Given the description of an element on the screen output the (x, y) to click on. 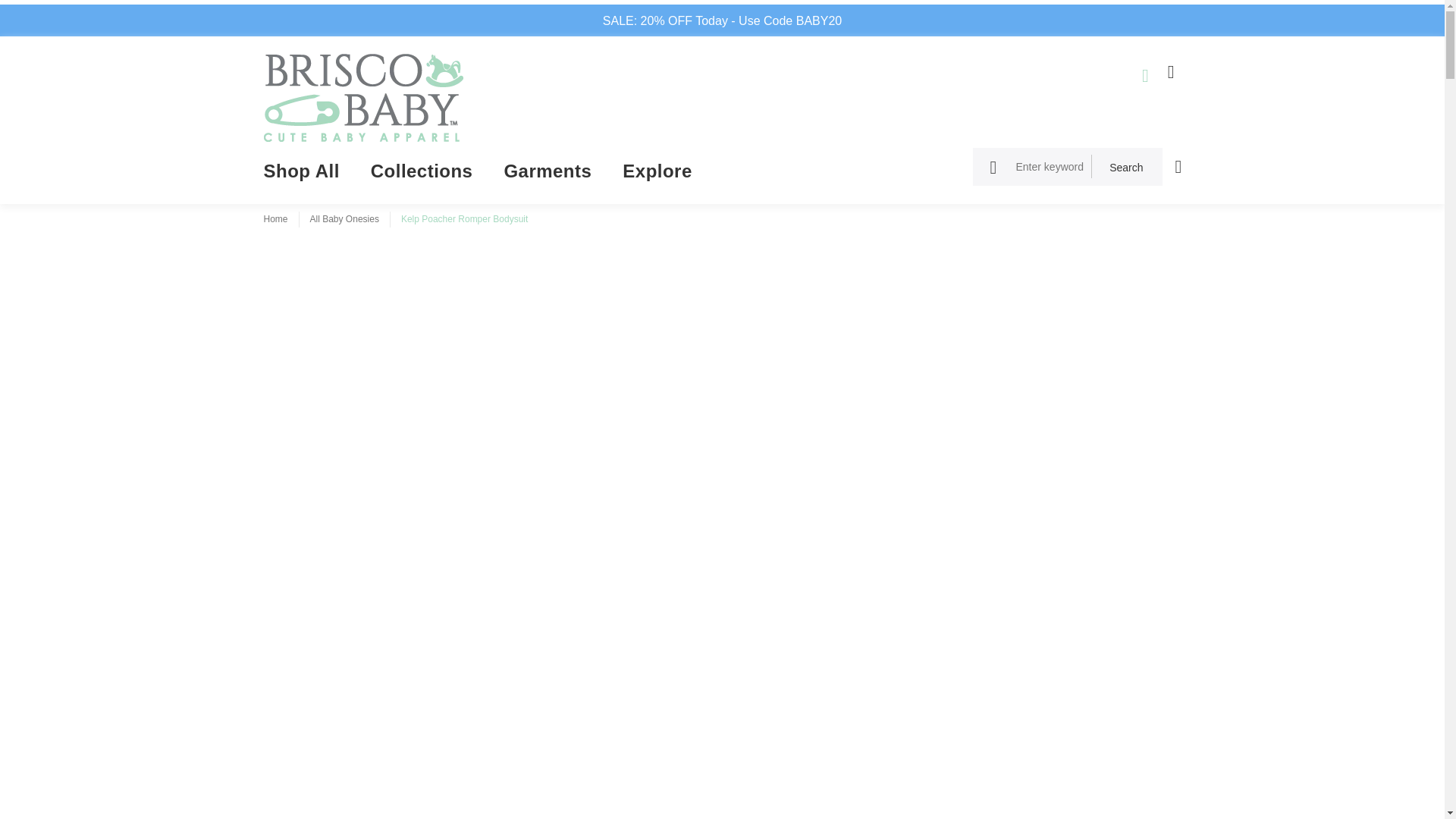
Shop All (309, 175)
Collections (422, 175)
